Given the description of an element on the screen output the (x, y) to click on. 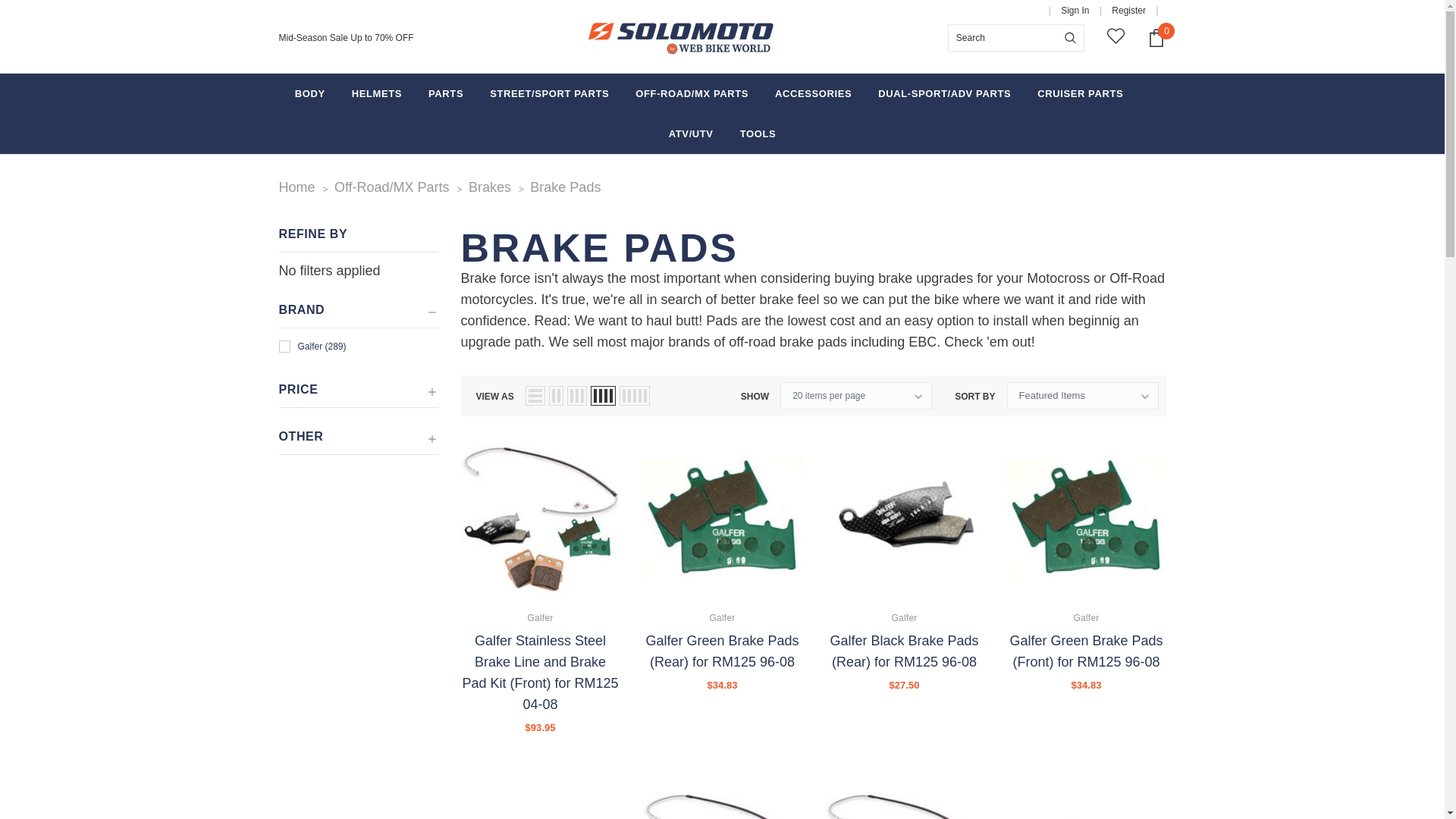
List View (534, 395)
Grid View 5 (634, 395)
Sign In (1075, 10)
Grid View 3 (576, 395)
SoloMotoParts (681, 37)
Register (1128, 10)
Grid View 4 (603, 395)
HELMETS (376, 93)
